Given the description of an element on the screen output the (x, y) to click on. 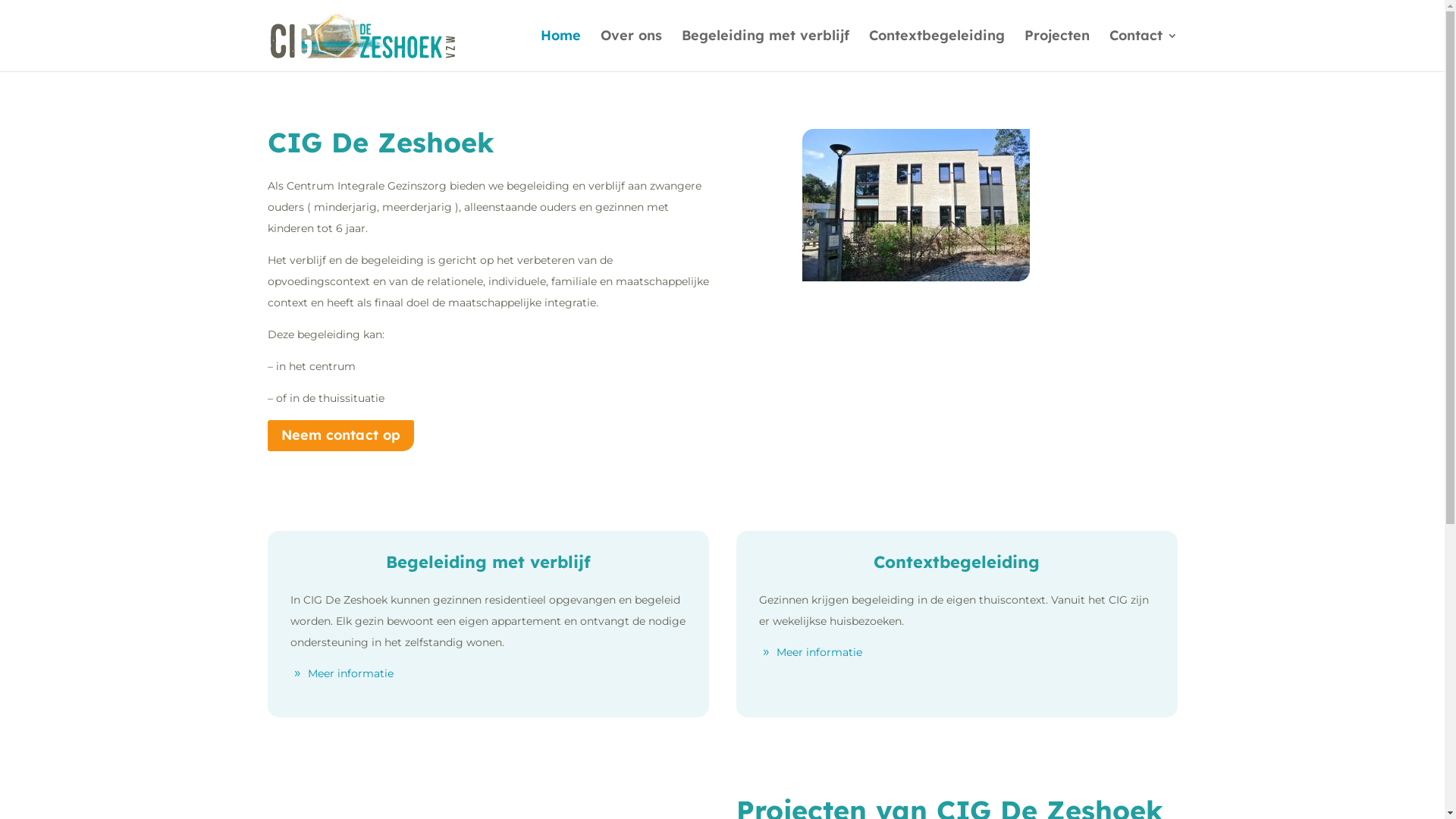
Meer informatie Element type: text (819, 651)
Home Element type: text (559, 50)
Contact Element type: text (1142, 50)
DSC_2218 Element type: hover (915, 204)
Meer informatie Element type: text (350, 673)
Projecten Element type: text (1055, 50)
Over ons Element type: text (631, 50)
Neem contact op Element type: text (340, 435)
Contextbegeleiding Element type: text (936, 50)
Begeleiding met verblijf Element type: text (764, 50)
